Given the description of an element on the screen output the (x, y) to click on. 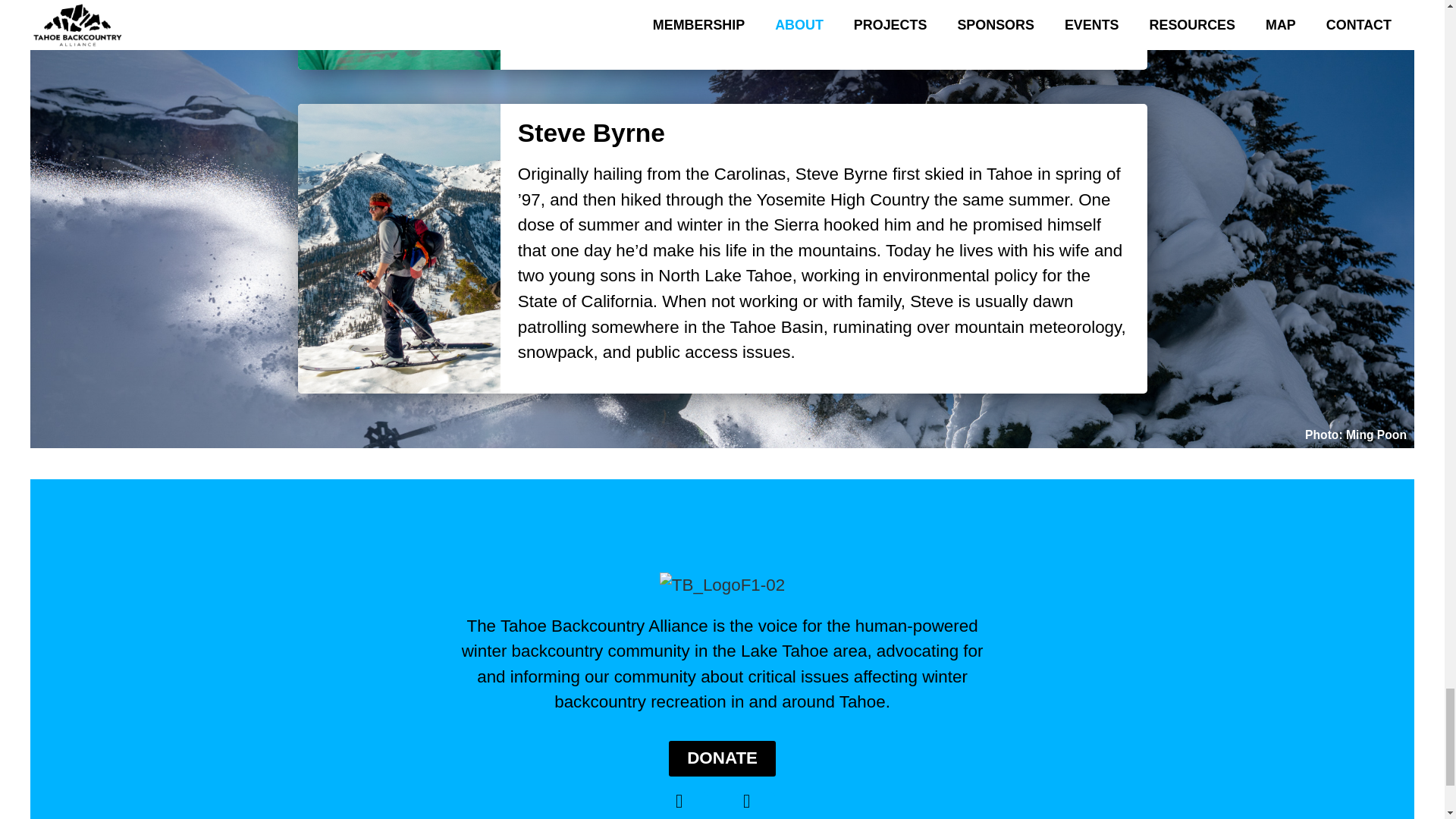
DONATE (722, 758)
